Given the description of an element on the screen output the (x, y) to click on. 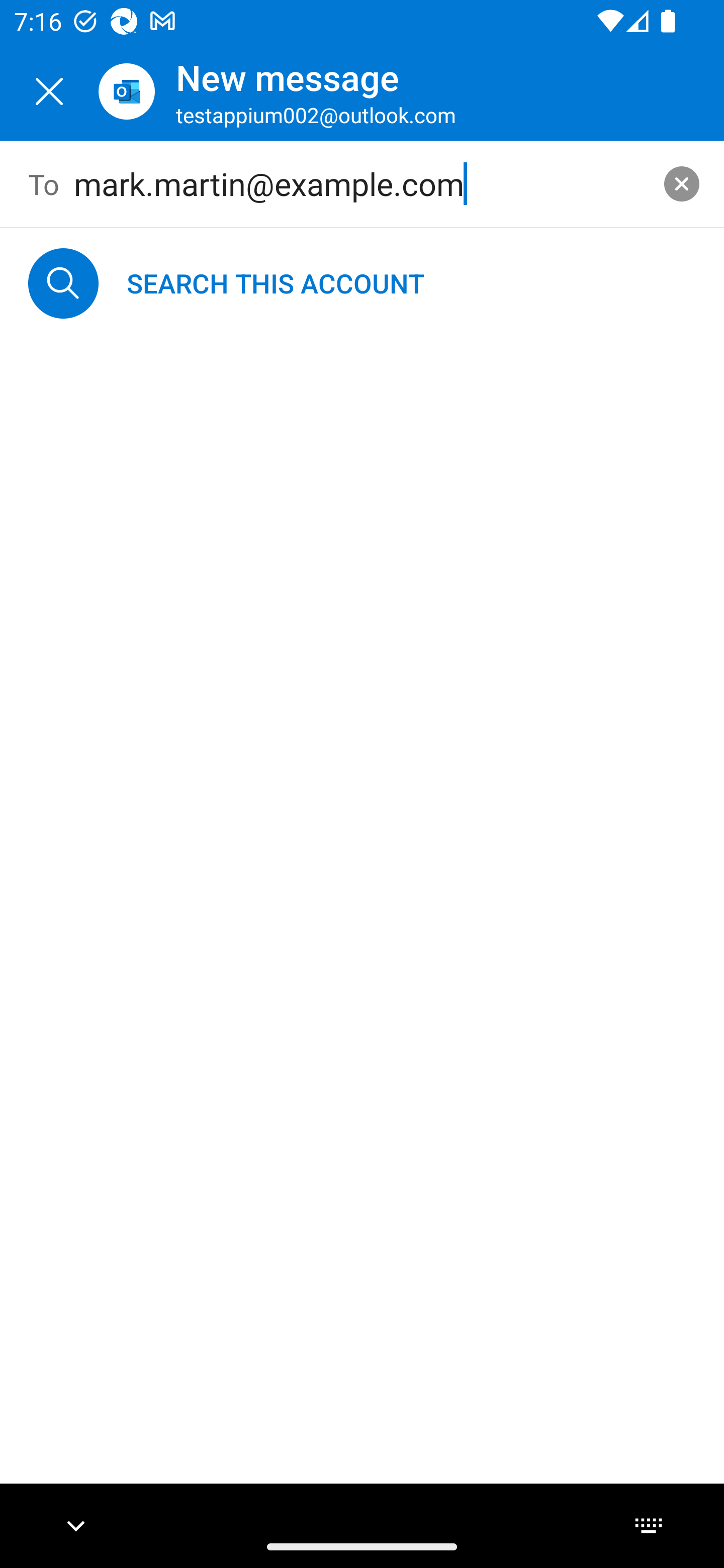
Close (49, 91)
mark.martin@example.com (362, 184)
clear search (681, 183)
